Given the description of an element on the screen output the (x, y) to click on. 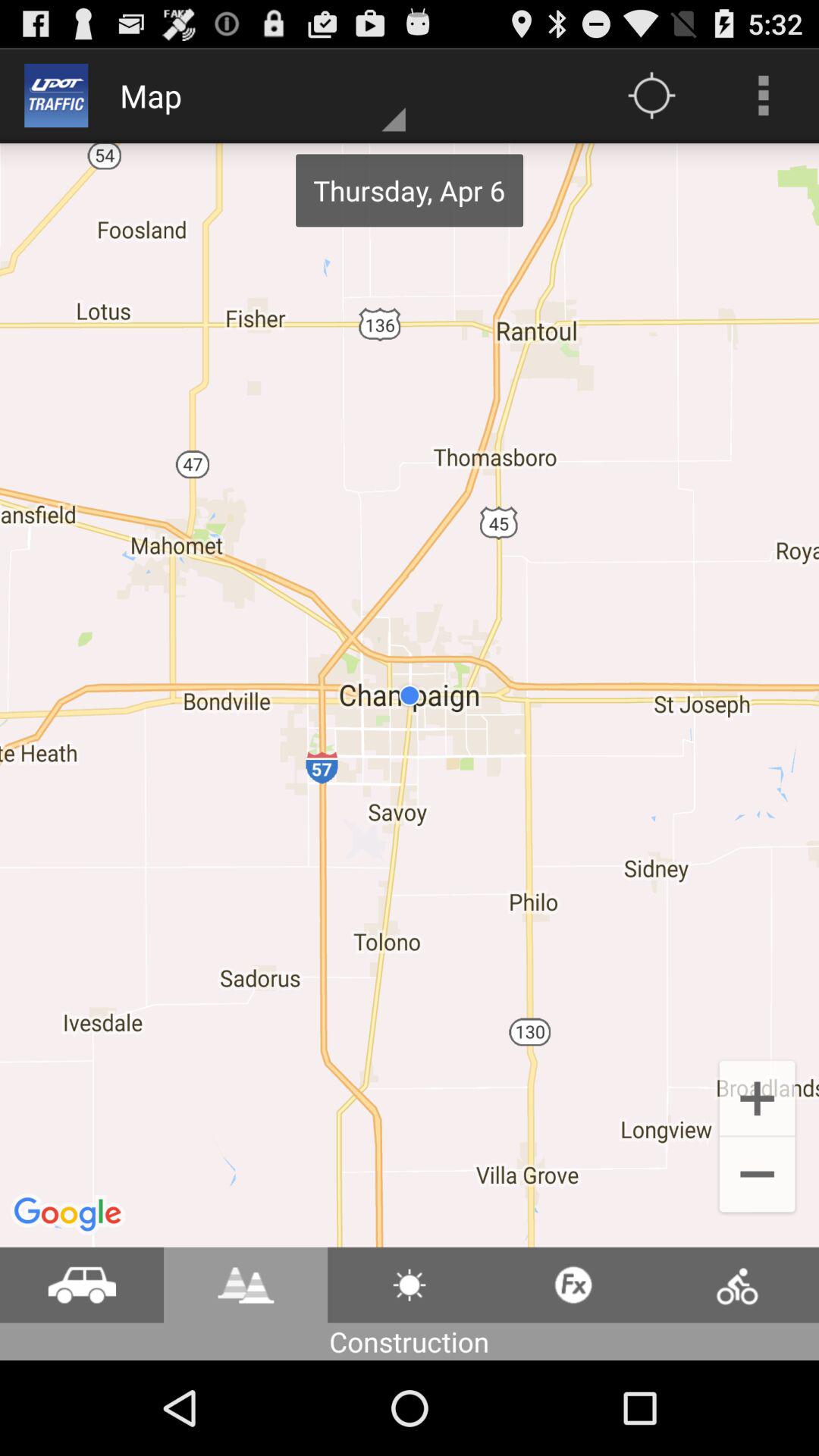
show traffic (81, 1284)
